Given the description of an element on the screen output the (x, y) to click on. 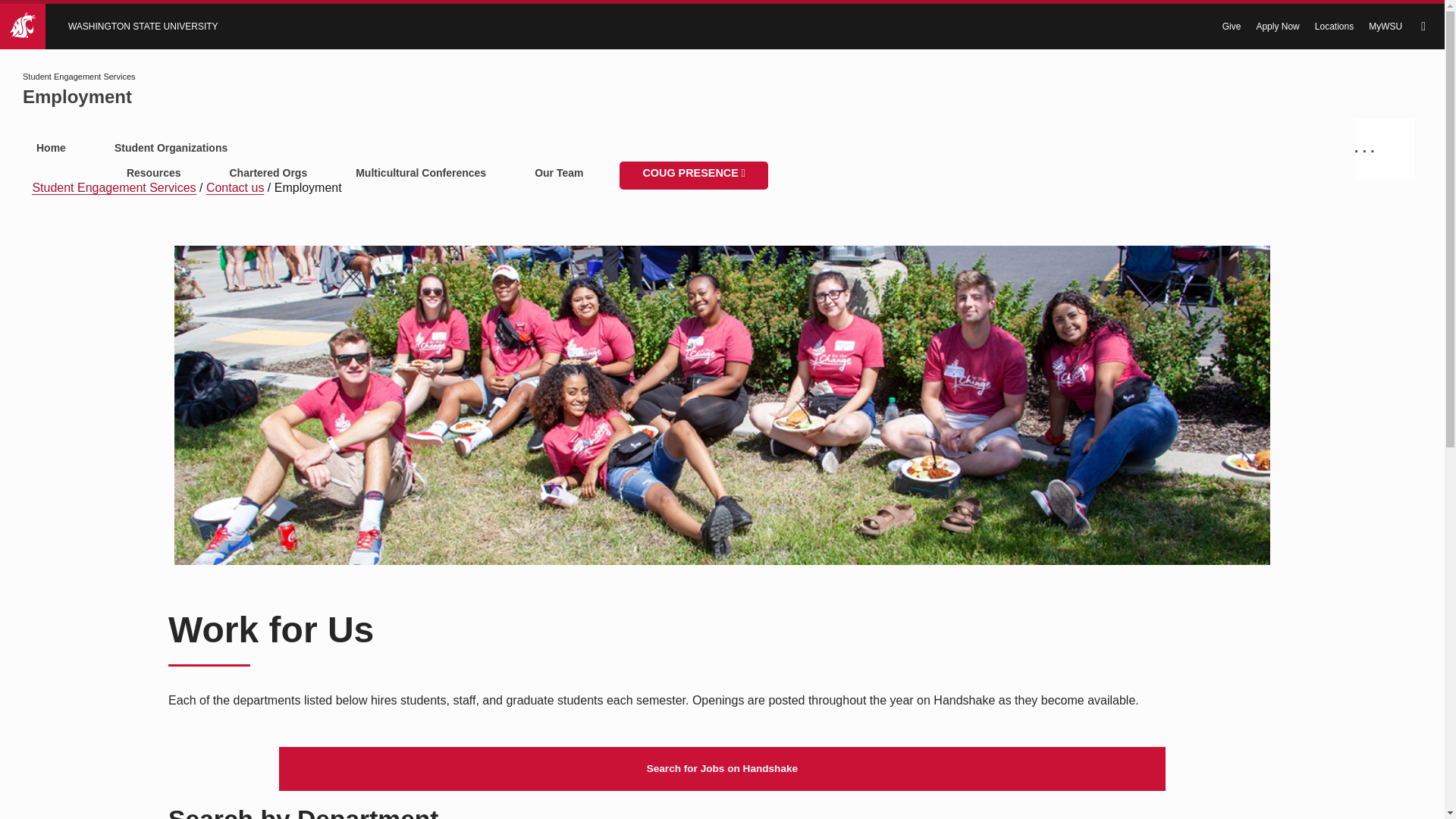
. . . (1384, 148)
Give (1232, 26)
MyWSU (1385, 26)
COUG PRESENCE (693, 175)
Resources (154, 173)
Multicultural Conferences (420, 173)
Our Team (558, 173)
Student Organizations (440, 148)
WASHINGTON STATE UNIVERSITY (309, 26)
Apply Now (1276, 26)
Chartered Orgs (267, 173)
Home (51, 148)
Locations (1334, 26)
